Given the description of an element on the screen output the (x, y) to click on. 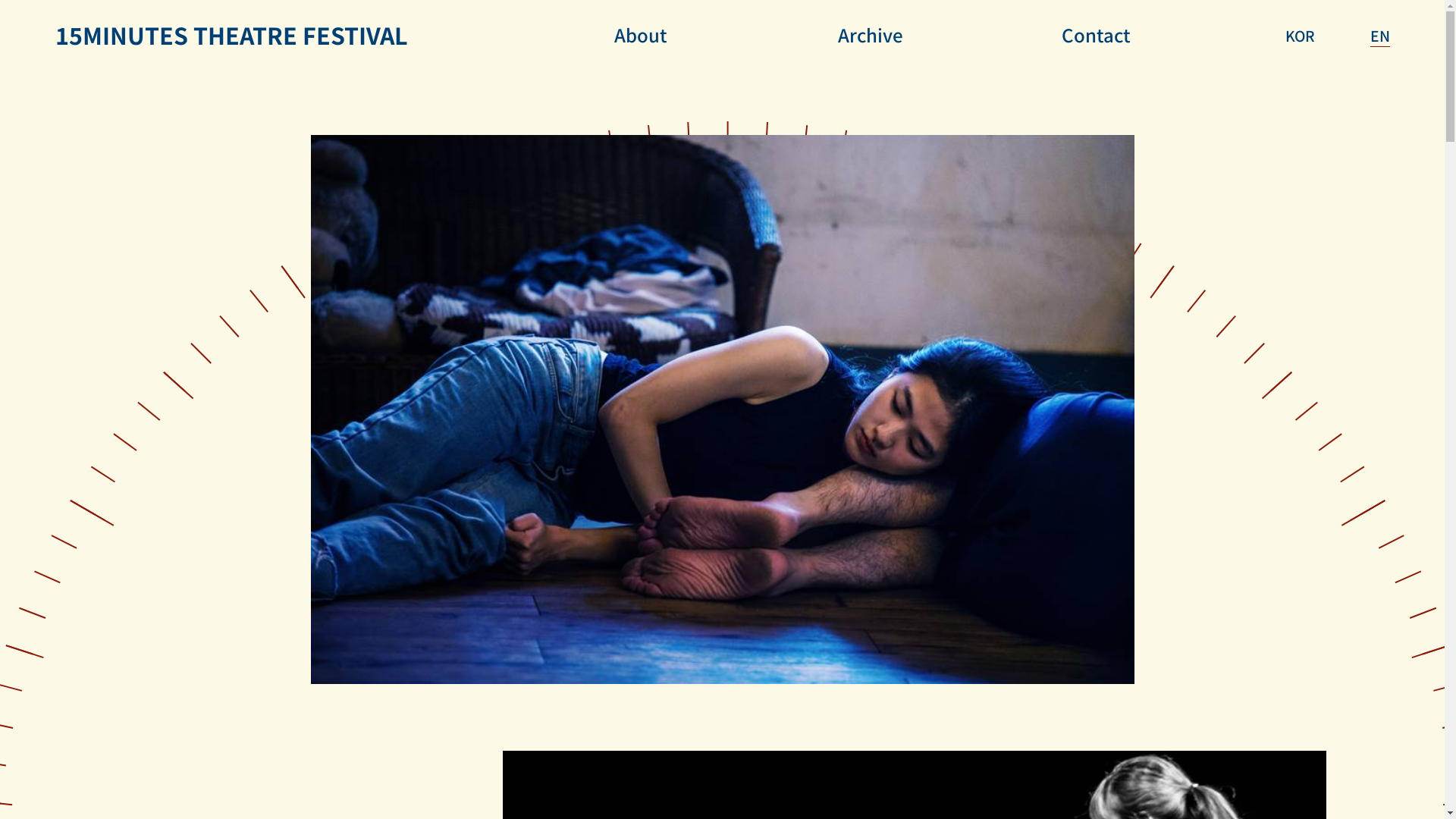
KOR Element type: text (1299, 35)
EN Element type: text (1379, 35)
Archive Element type: text (870, 34)
Contact Element type: text (1095, 34)
About Element type: text (640, 34)
15MINUTES THEATRE FESTIVAL Element type: text (230, 34)
